Given the description of an element on the screen output the (x, y) to click on. 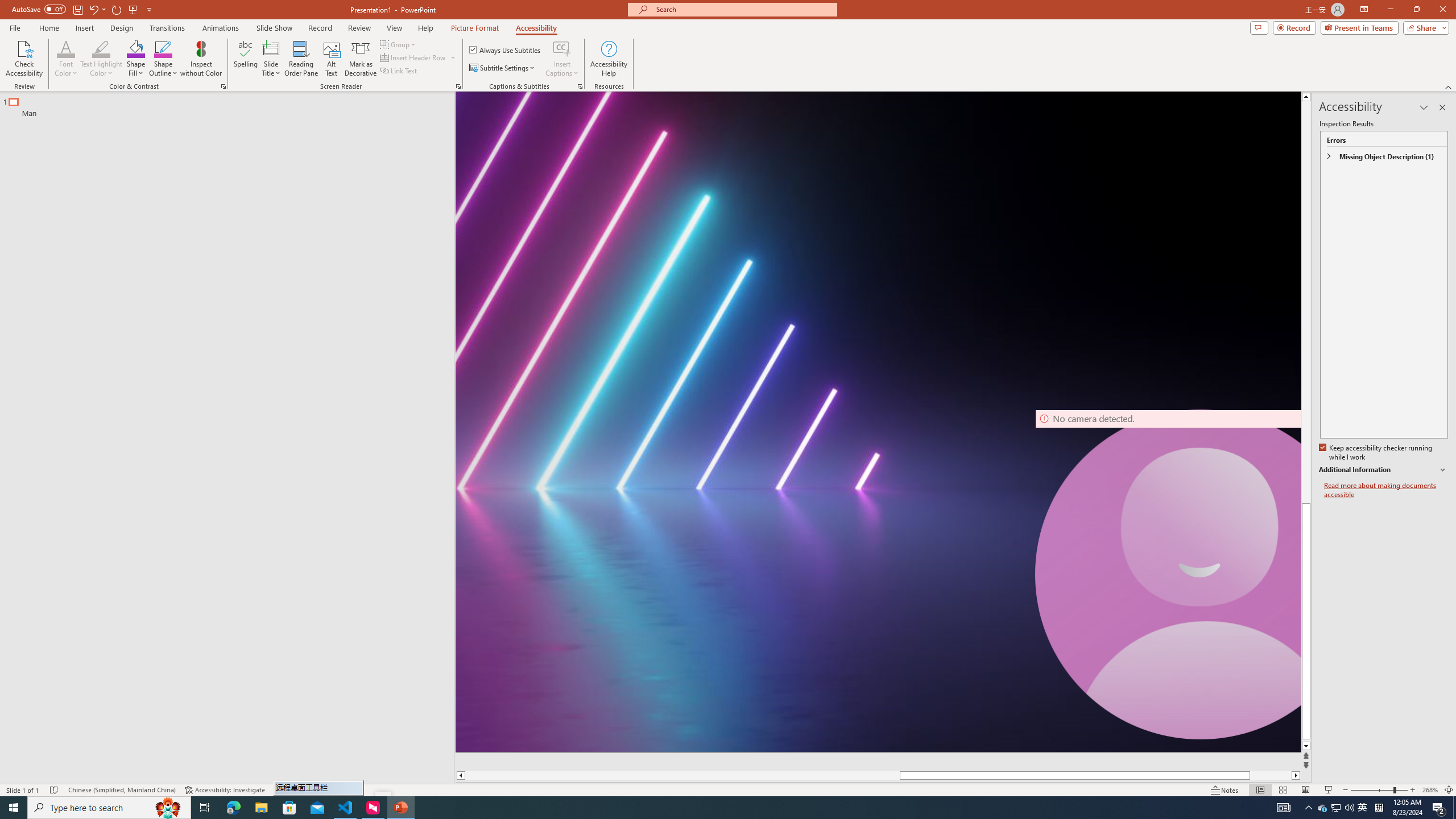
Zoom to Fit  (1449, 790)
Close (1442, 9)
Slide Title (271, 58)
Insert (83, 28)
Review (359, 28)
Reading View (1305, 790)
Keep accessibility checker running while I work (1376, 452)
Design (122, 28)
